Given the description of an element on the screen output the (x, y) to click on. 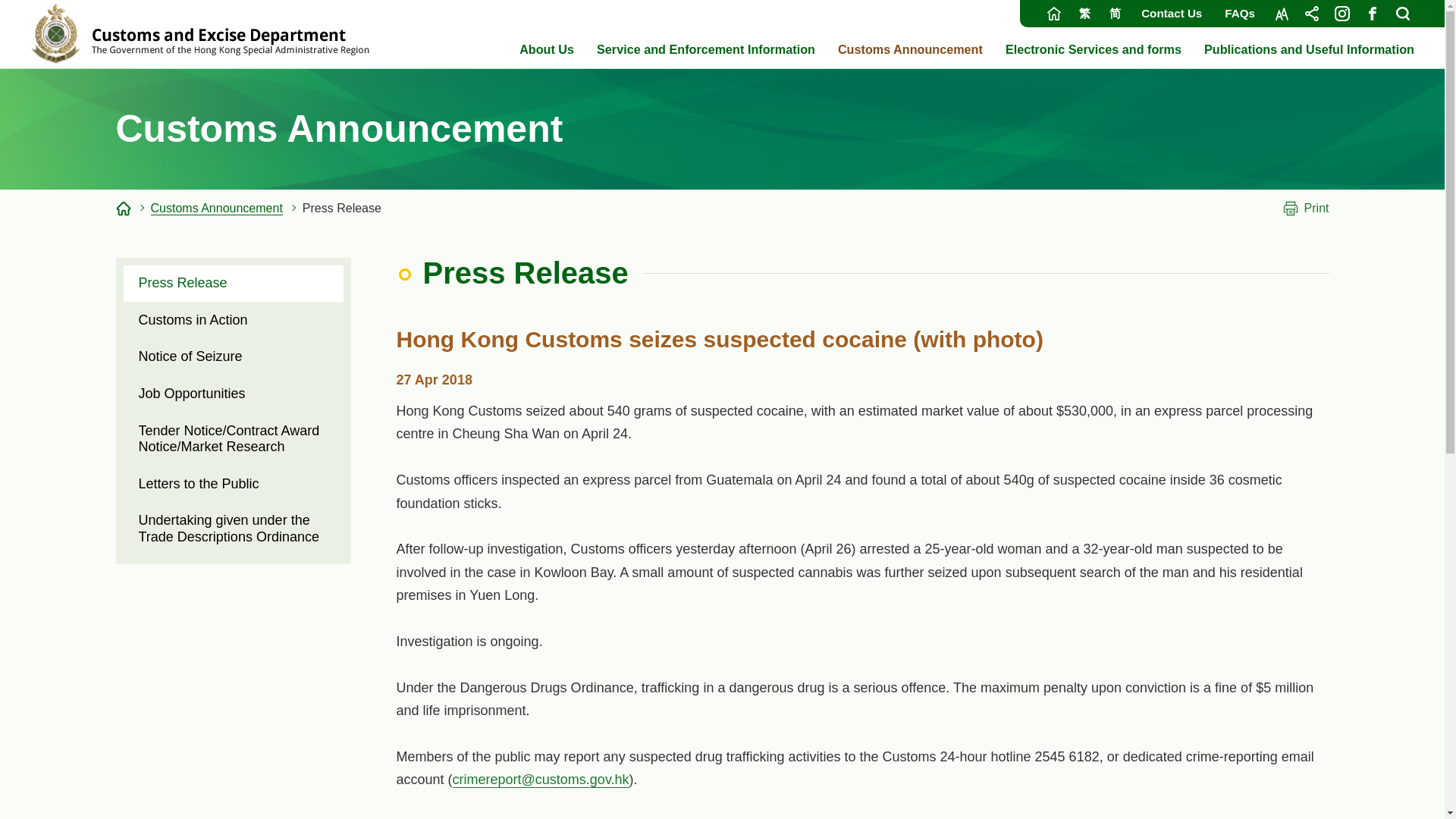
Font Size, This link will open in new window (1280, 13)
